Given the description of an element on the screen output the (x, y) to click on. 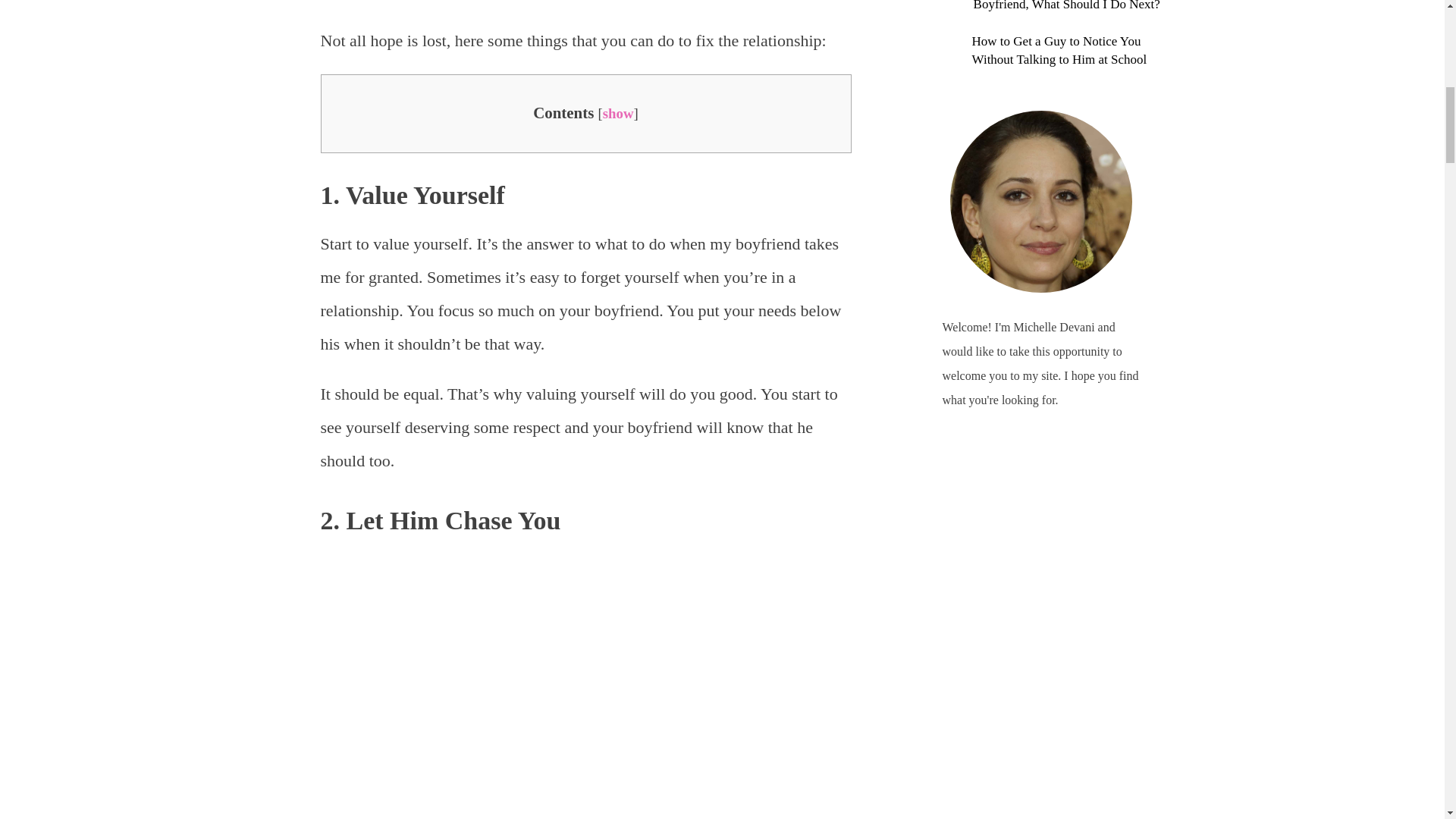
show (617, 113)
